Given the description of an element on the screen output the (x, y) to click on. 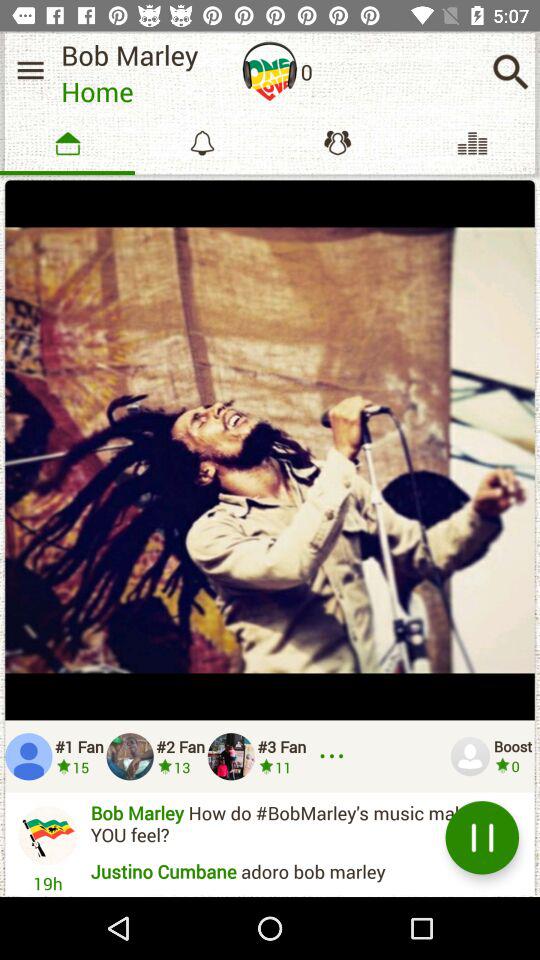
toggle side menu (30, 69)
